Given the description of an element on the screen output the (x, y) to click on. 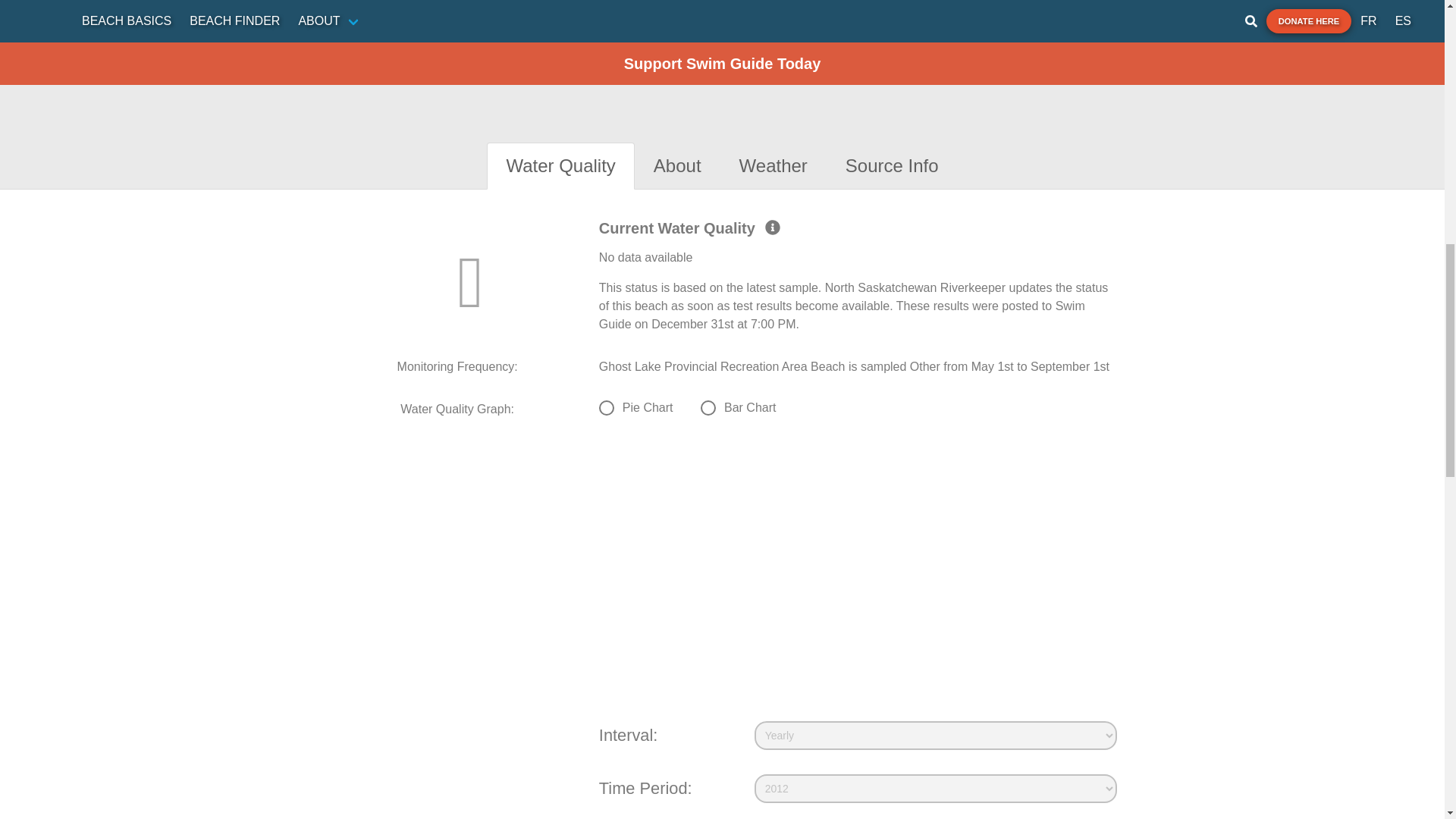
About (677, 165)
Source Info (892, 165)
Water Quality (559, 165)
Weather (773, 165)
